Given the description of an element on the screen output the (x, y) to click on. 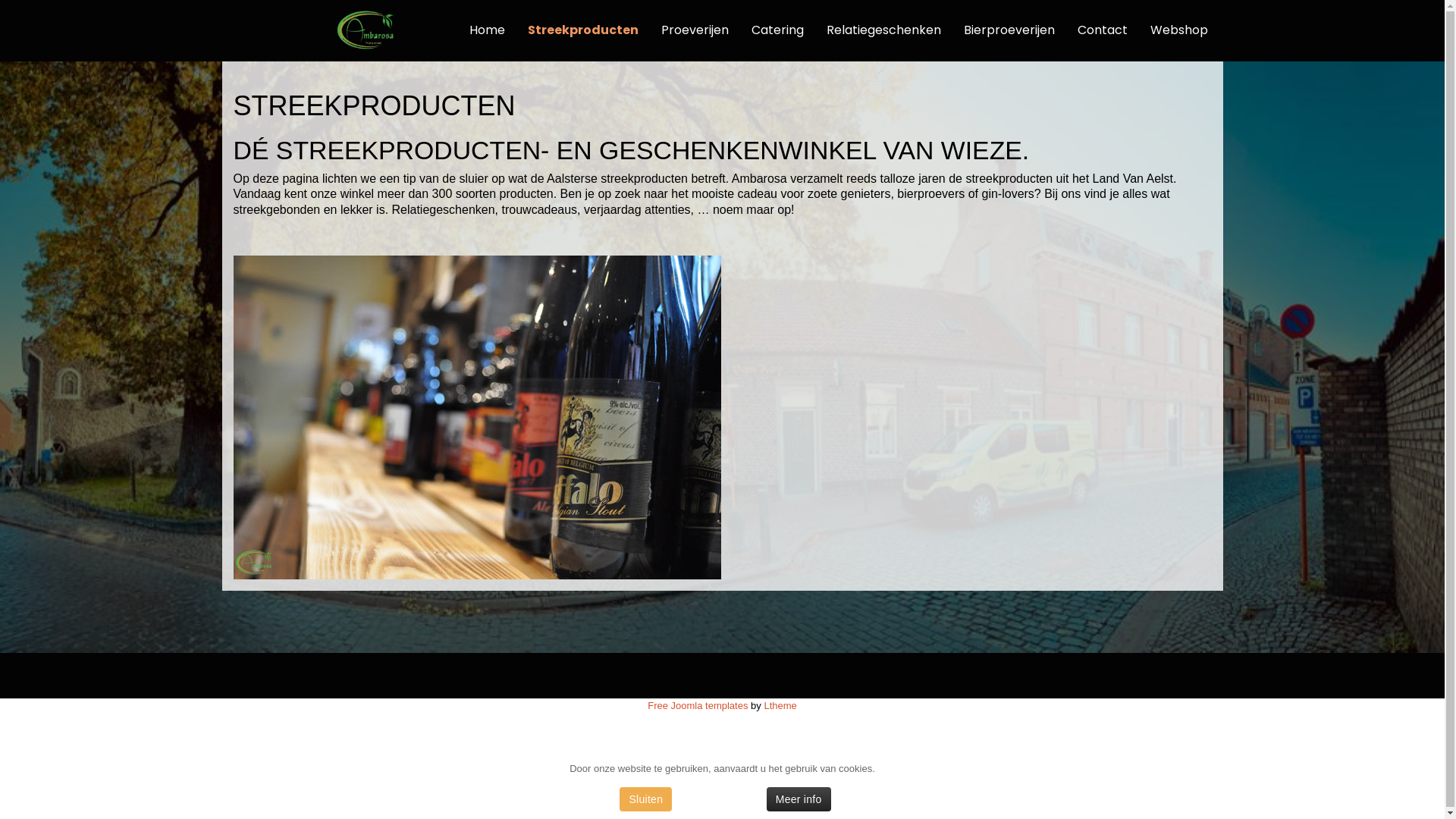
Streekproducten Element type: text (582, 30)
Contact Element type: text (1102, 30)
Free Joomla templates Element type: text (697, 704)
Ltheme Element type: text (779, 704)
Relatiegeschenken Element type: text (882, 30)
Meer info Element type: text (798, 799)
Catering Element type: text (777, 30)
Home Element type: text (487, 30)
Proeverijen Element type: text (694, 30)
Webshop Element type: text (1173, 30)
Bierproeverijen Element type: text (1009, 30)
Sluiten Element type: text (645, 799)
